Given the description of an element on the screen output the (x, y) to click on. 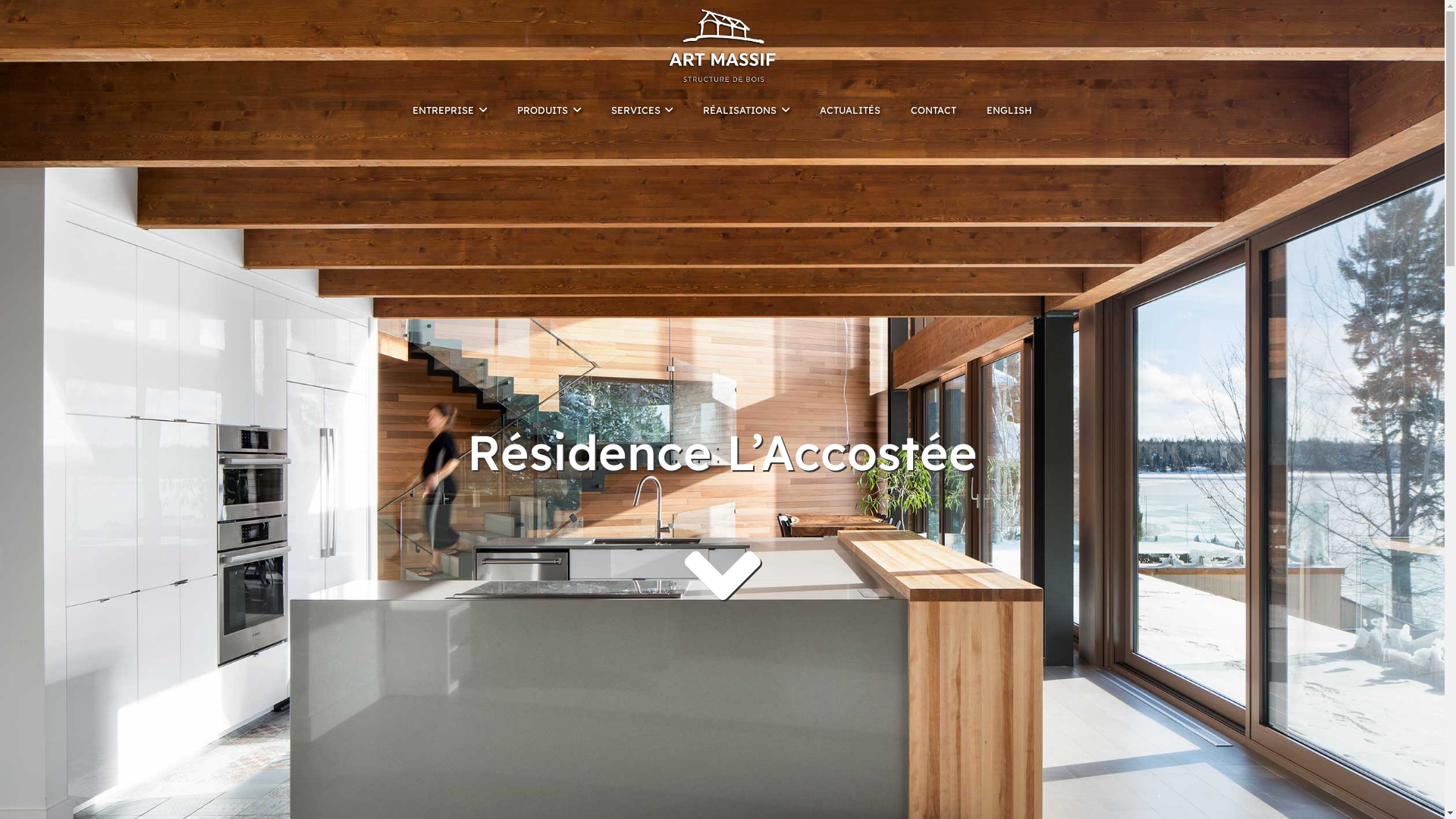
ENGLISH Element type: text (1009, 109)
CONTACT Element type: text (933, 109)
ENTREPRISE Element type: text (449, 109)
PRODUITS Element type: text (549, 109)
SERVICES Element type: text (642, 109)
